Given the description of an element on the screen output the (x, y) to click on. 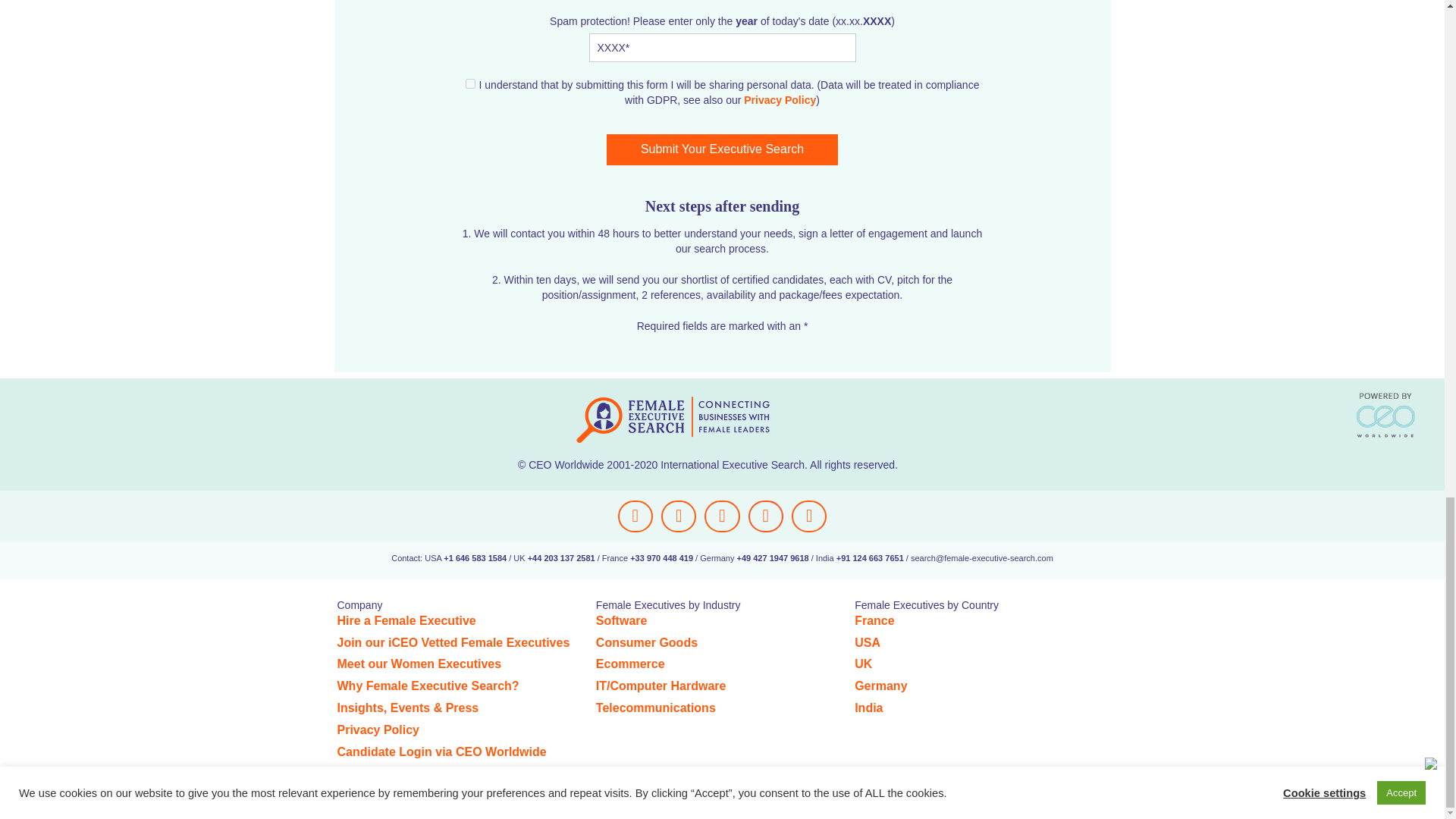
Female Executive Search on Blogger B (765, 515)
Candidate Login via CEO Worldwide (441, 751)
Female Executive Search on Youtube (721, 515)
Female Executive Search on X Twitter (678, 515)
Y (470, 83)
Female Executive Search on Envelope (809, 515)
Ecommerce (630, 663)
Software (621, 620)
Why Female Executive Search? (427, 685)
Hire a Female Executive (406, 620)
Submit Your Executive Search (721, 150)
Consumer Goods (646, 642)
Female Executive Search on Linkedin (634, 515)
Meet our Women Executives (418, 663)
Join our iCEO Vetted Female Executives (452, 642)
